Given the description of an element on the screen output the (x, y) to click on. 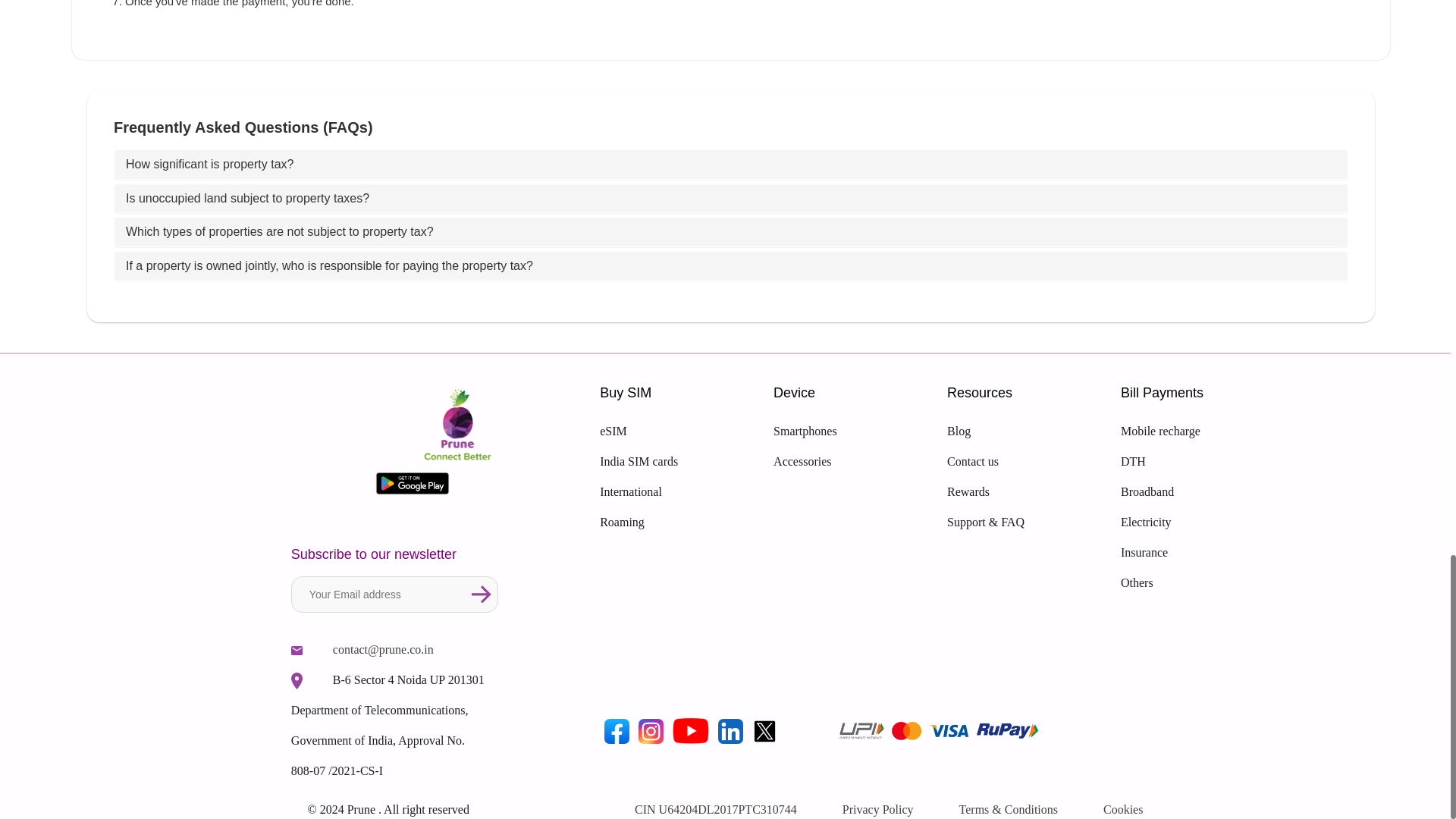
Prune (412, 482)
Prune (616, 731)
Prune (296, 680)
Prune (481, 594)
Prune (650, 731)
Prune (457, 425)
Prune (764, 731)
Prune (296, 650)
Prune (730, 731)
Prune (690, 730)
